Given the description of an element on the screen output the (x, y) to click on. 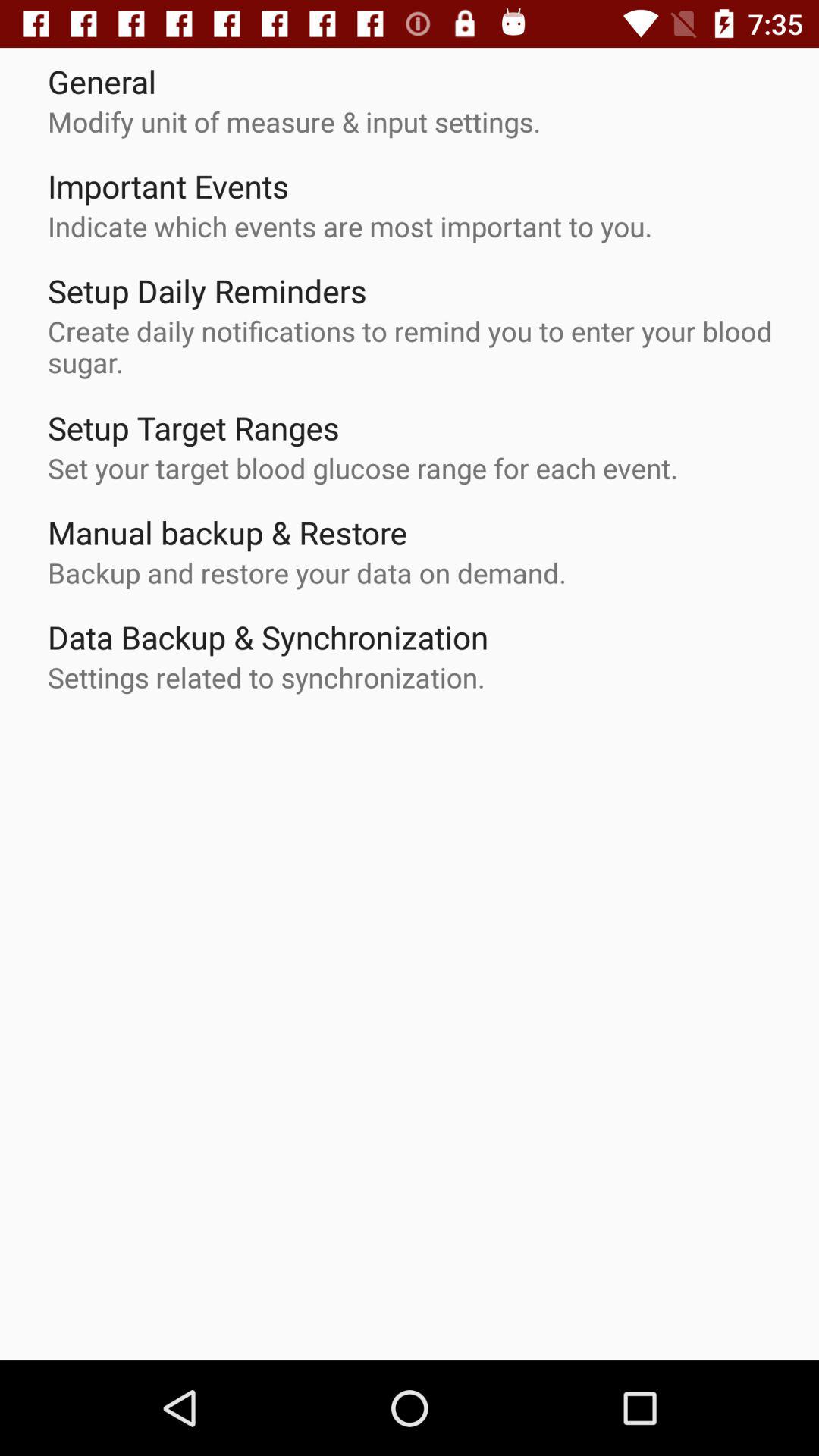
swipe until set your target (362, 467)
